Given the description of an element on the screen output the (x, y) to click on. 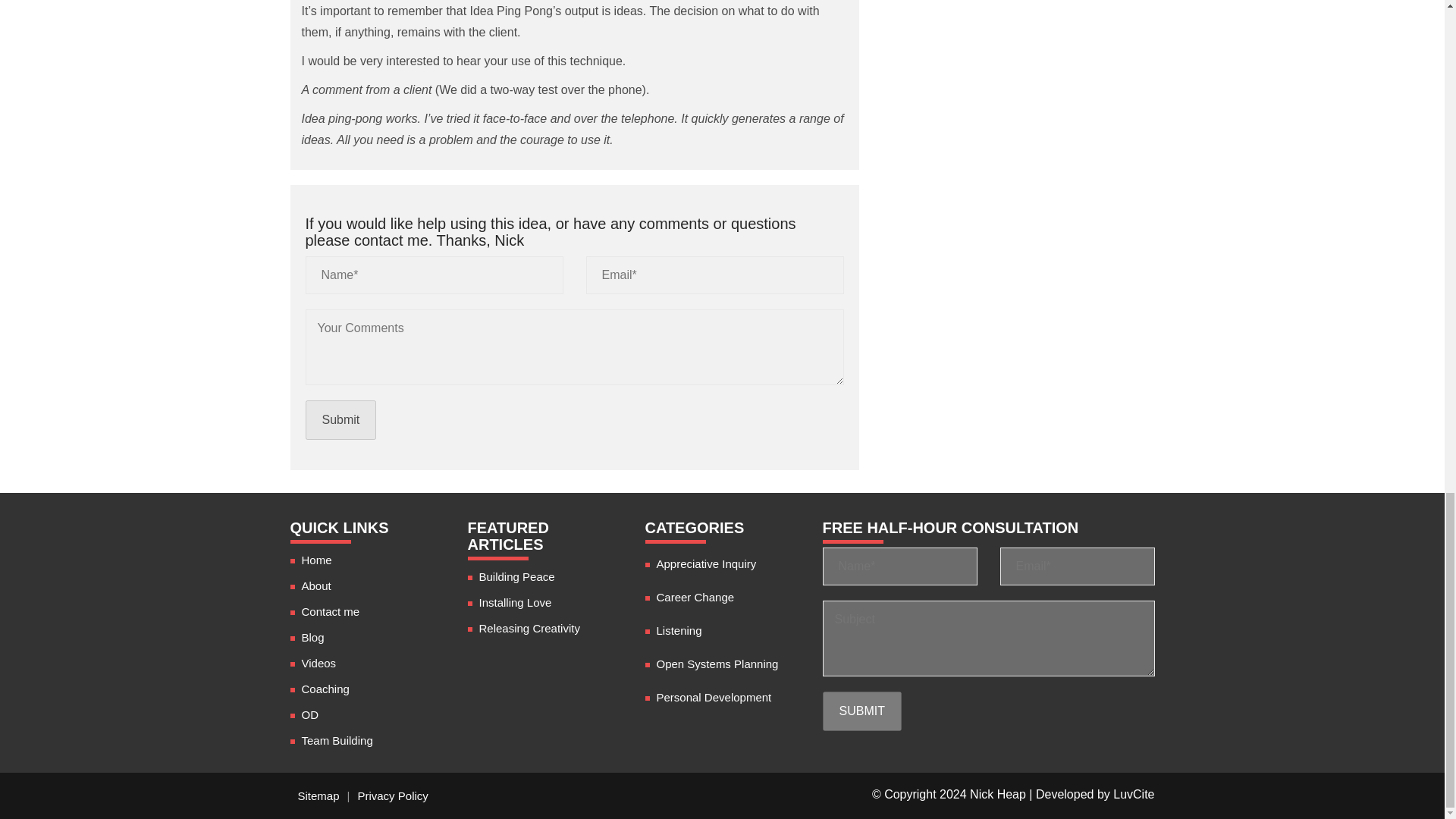
Submit (339, 419)
Submit (339, 419)
SUBMIT (861, 711)
